Given the description of an element on the screen output the (x, y) to click on. 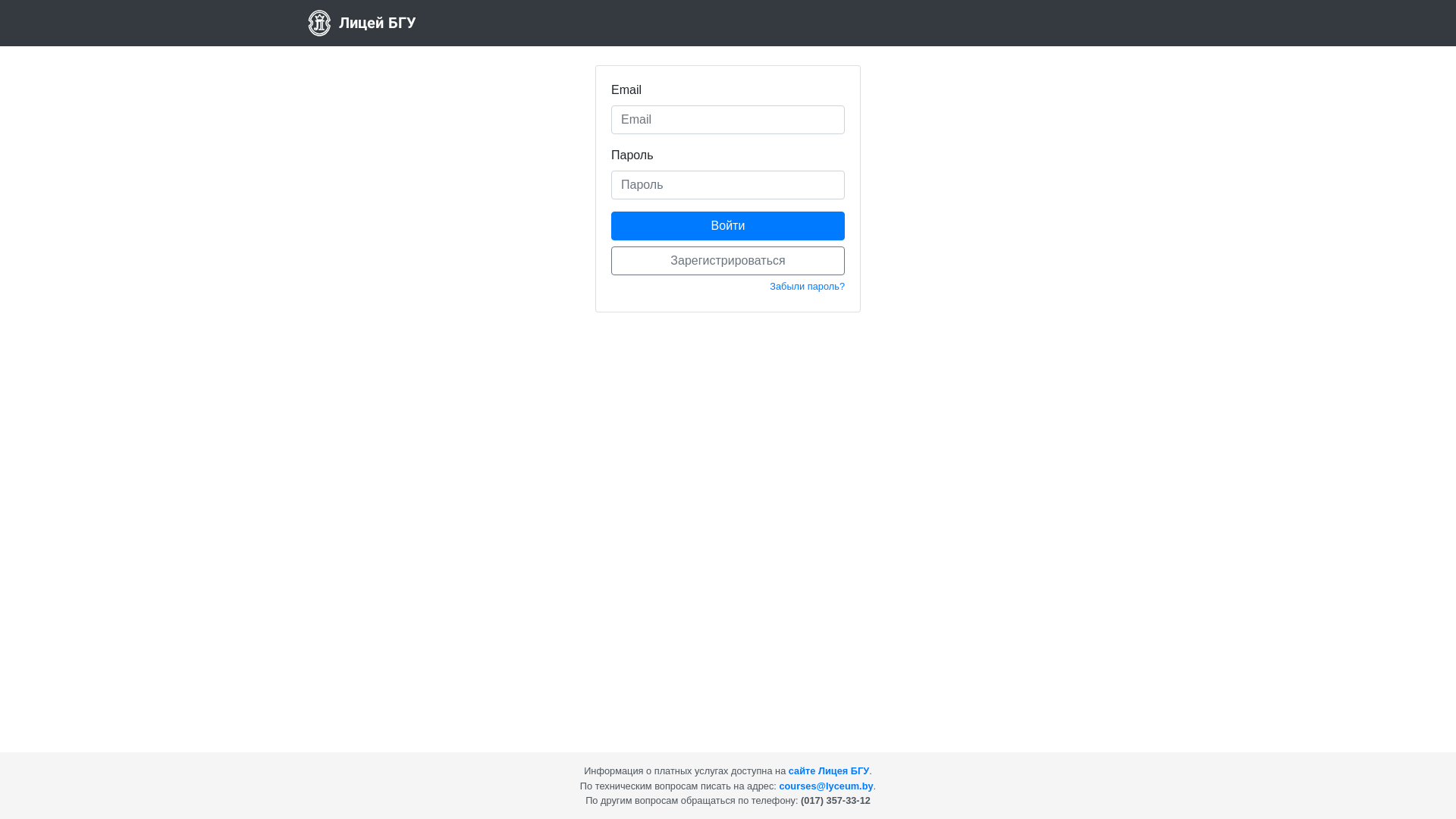
courses@lyceum.by Element type: text (825, 785)
